Given the description of an element on the screen output the (x, y) to click on. 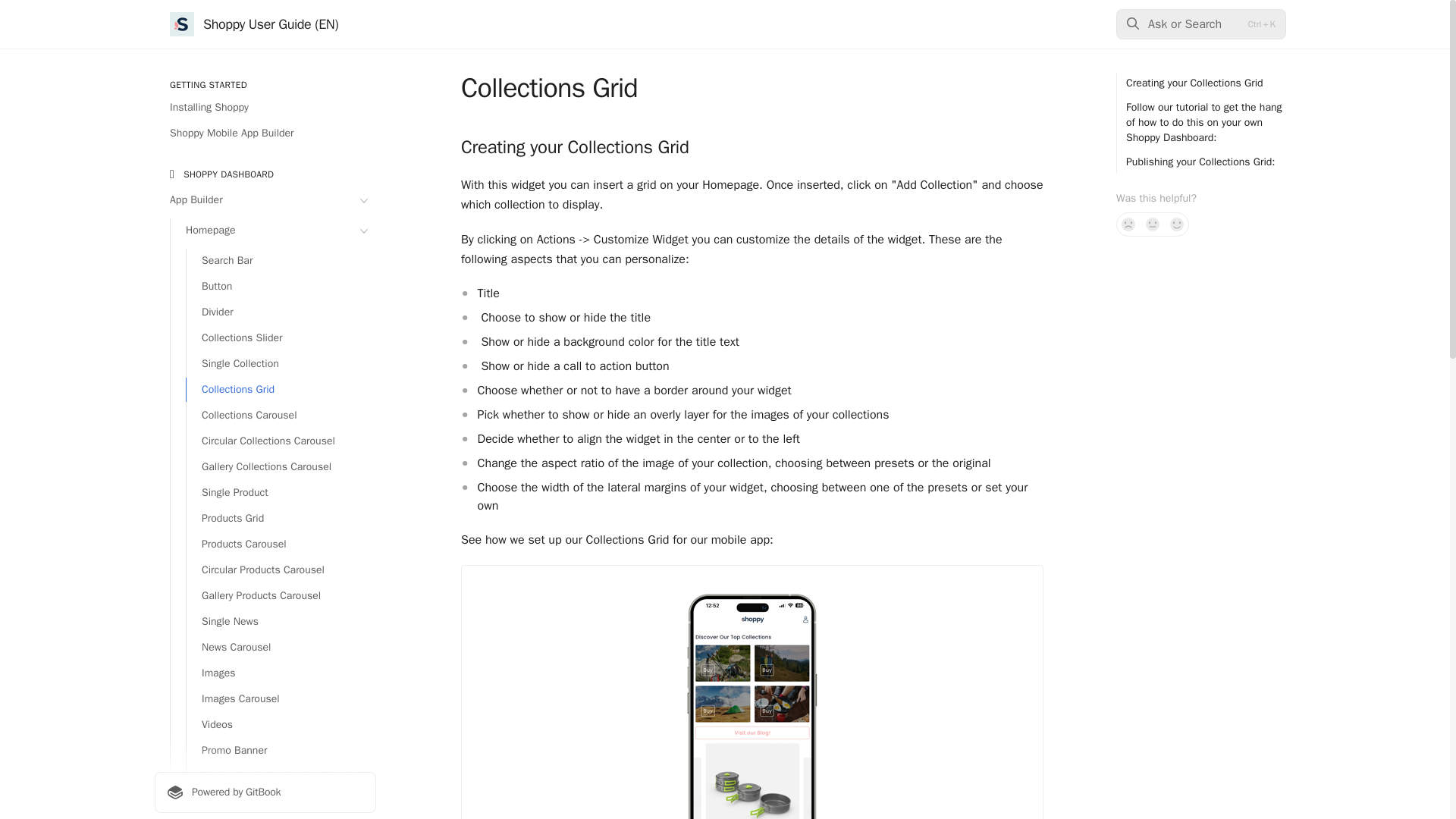
External Links (280, 776)
Circular Collections Carousel (280, 441)
Collections Slider (280, 337)
Single Product (280, 492)
App Builder (264, 200)
Single Collection (280, 363)
Collections Carousel (280, 415)
Products Carousel (280, 544)
Search Bar (280, 260)
Shoppy Mobile App Builder (264, 133)
